Given the description of an element on the screen output the (x, y) to click on. 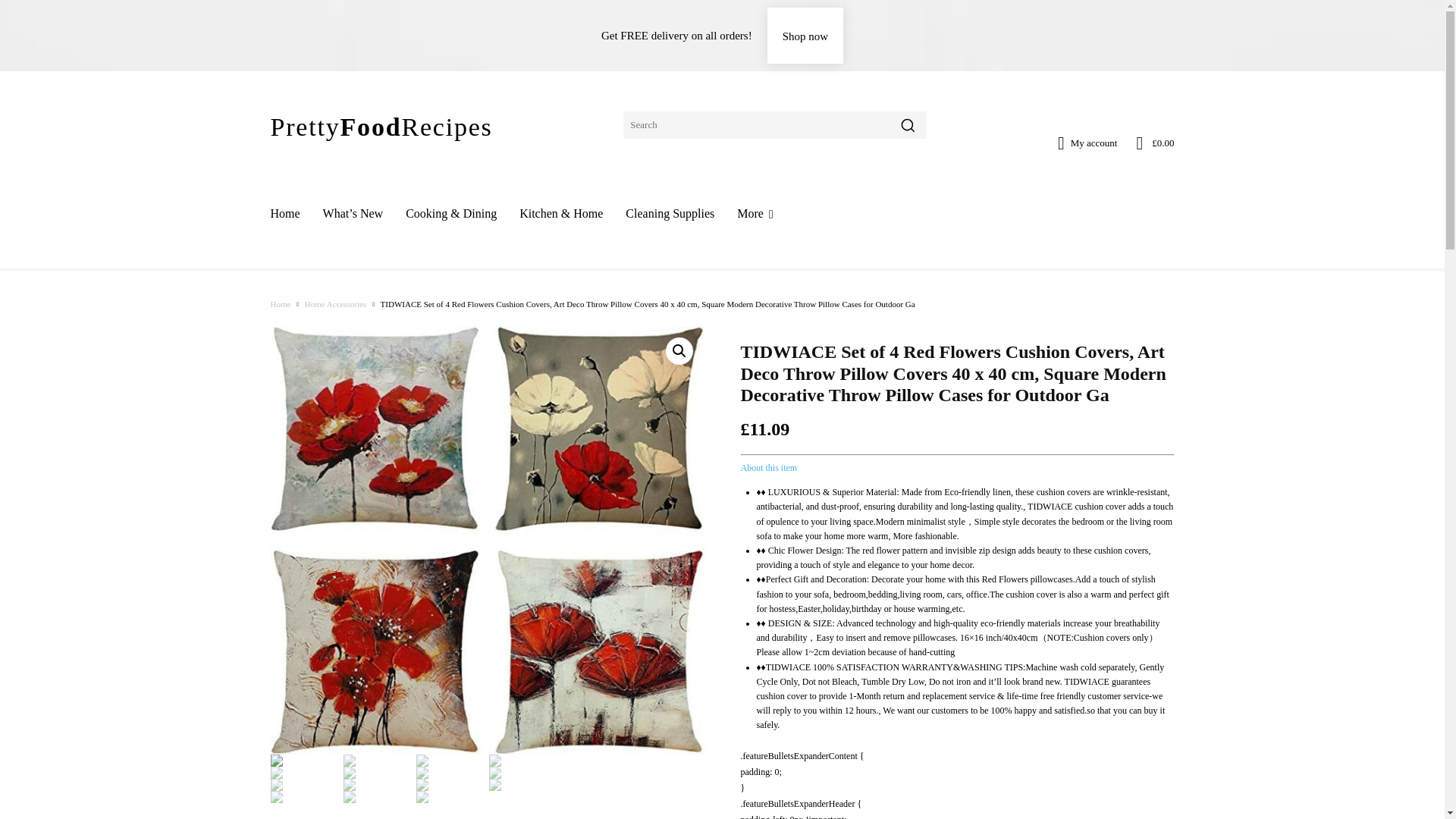
More (754, 213)
Shop now (805, 35)
Shop now (805, 35)
PrettyFoodRecipes (380, 124)
Cleaning Supplies (670, 213)
